Given the description of an element on the screen output the (x, y) to click on. 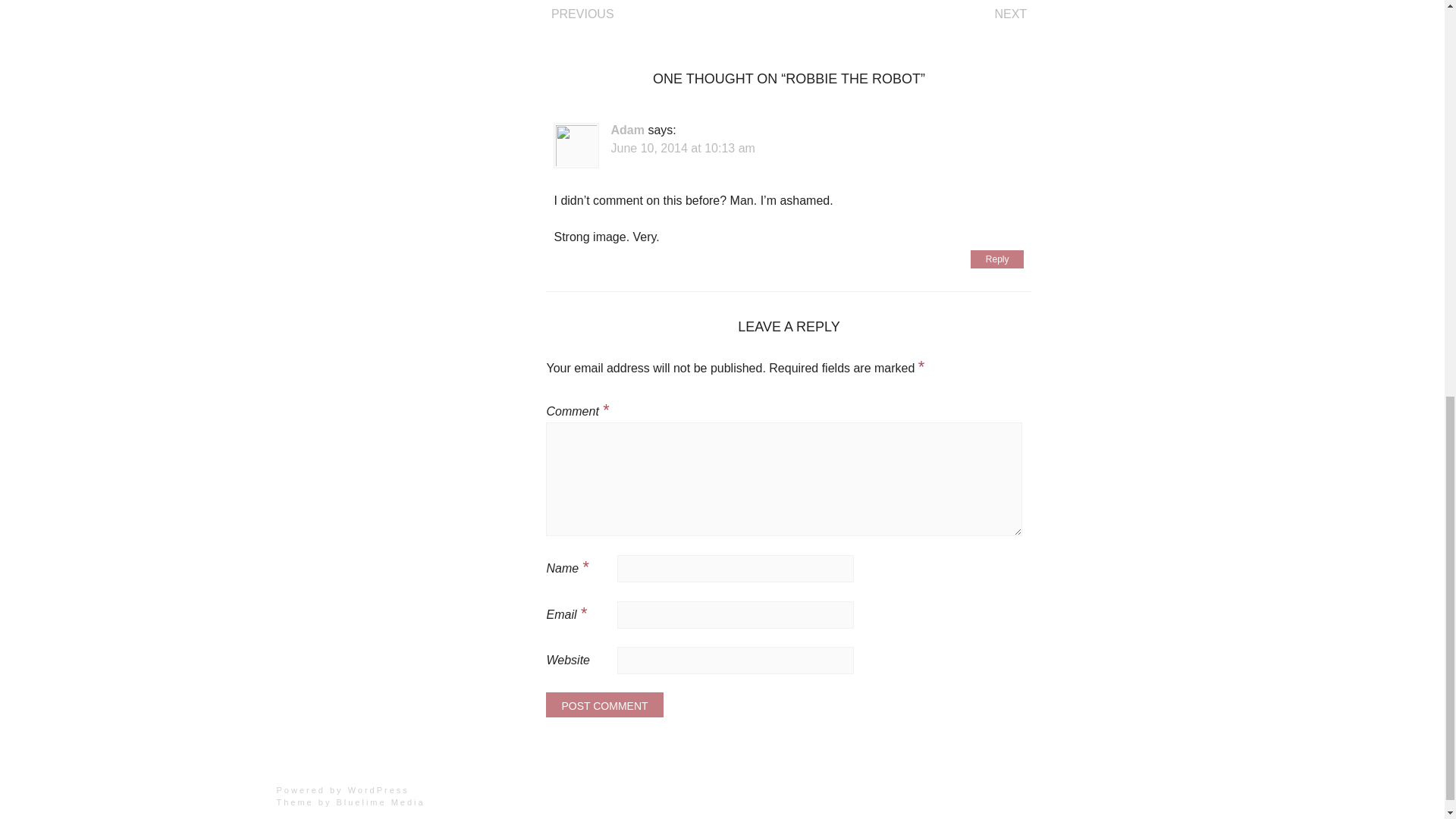
Post Comment (604, 704)
NEXT (1010, 13)
Reply (998, 259)
Bluelime Media (380, 801)
Powered by WordPress (342, 789)
June 10, 2014 at 10:13 am (682, 147)
PREVIOUS (582, 13)
Post Comment (604, 704)
Adam (626, 129)
